Given the description of an element on the screen output the (x, y) to click on. 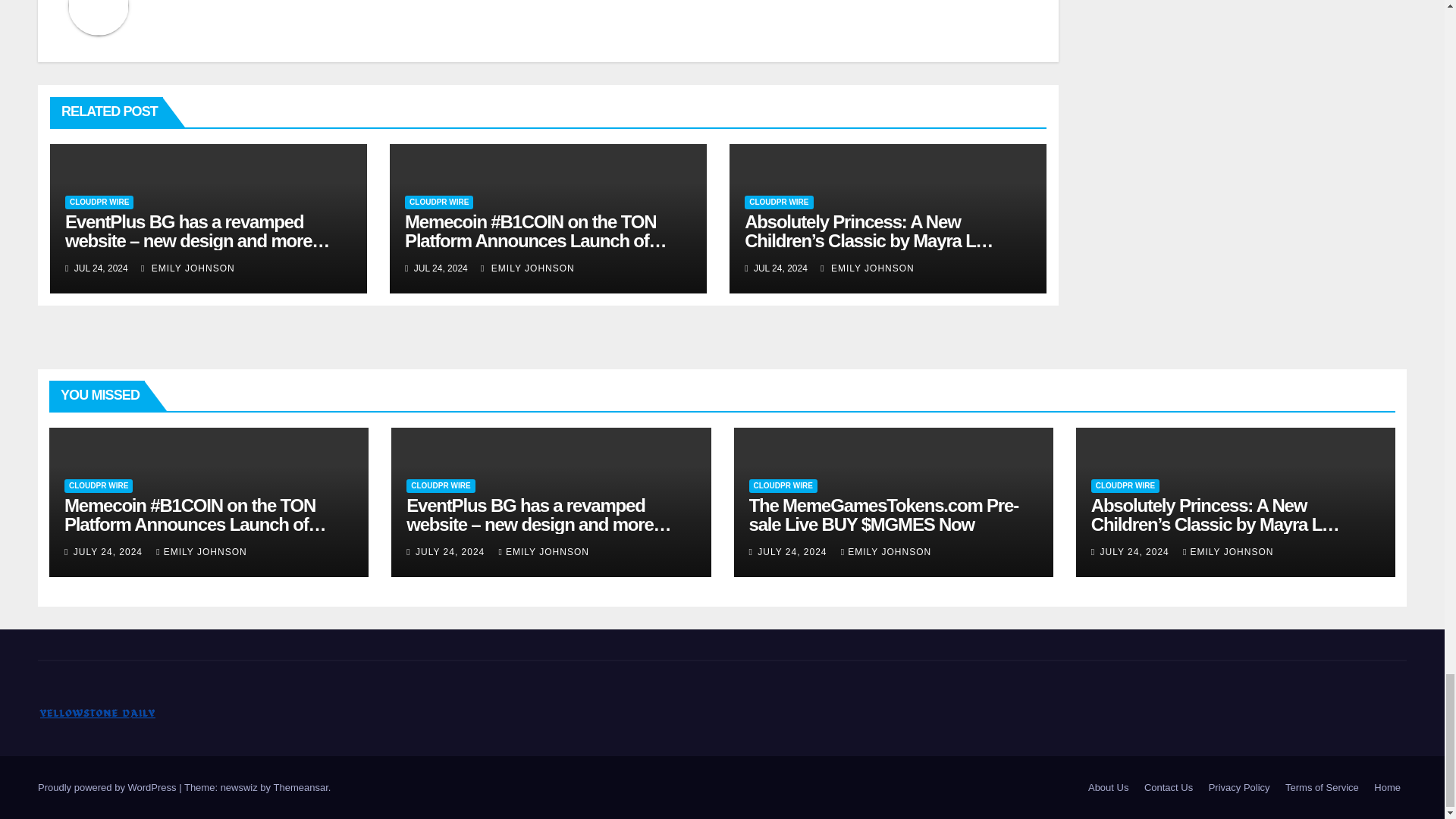
CLOUDPR WIRE (99, 202)
EMILY JOHNSON (527, 267)
EMILY JOHNSON (187, 267)
CLOUDPR WIRE (438, 202)
